Given the description of an element on the screen output the (x, y) to click on. 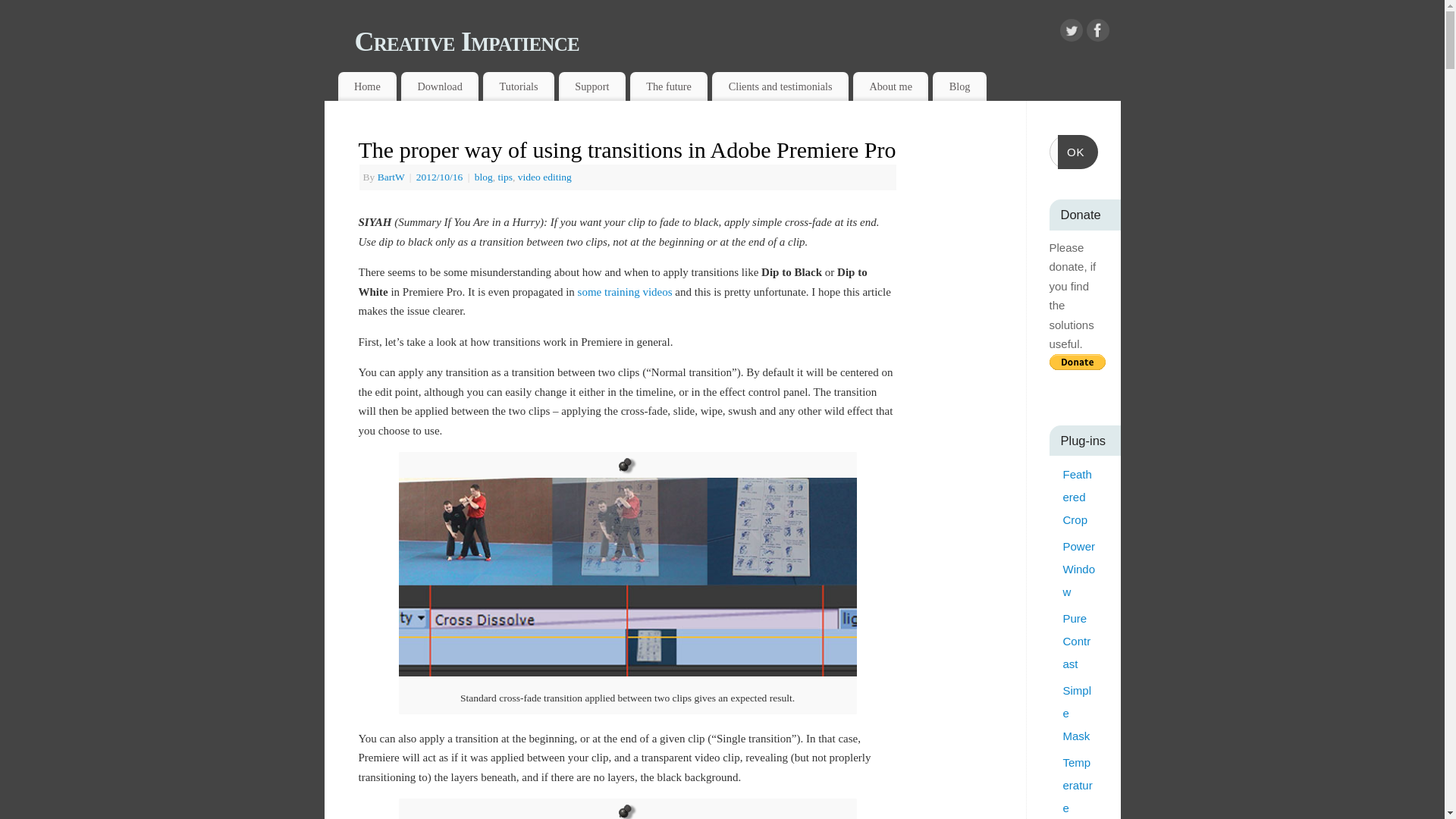
About me (890, 86)
Download (440, 86)
Welcome to the Solace of Simple Solutions! (367, 86)
My personal blog with ideas and musings (959, 86)
Ideas for the future fixes (668, 86)
blog (483, 176)
Creative Impatience (738, 41)
Clients and testimonials (779, 86)
Support (592, 86)
Blog (959, 86)
